Given the description of an element on the screen output the (x, y) to click on. 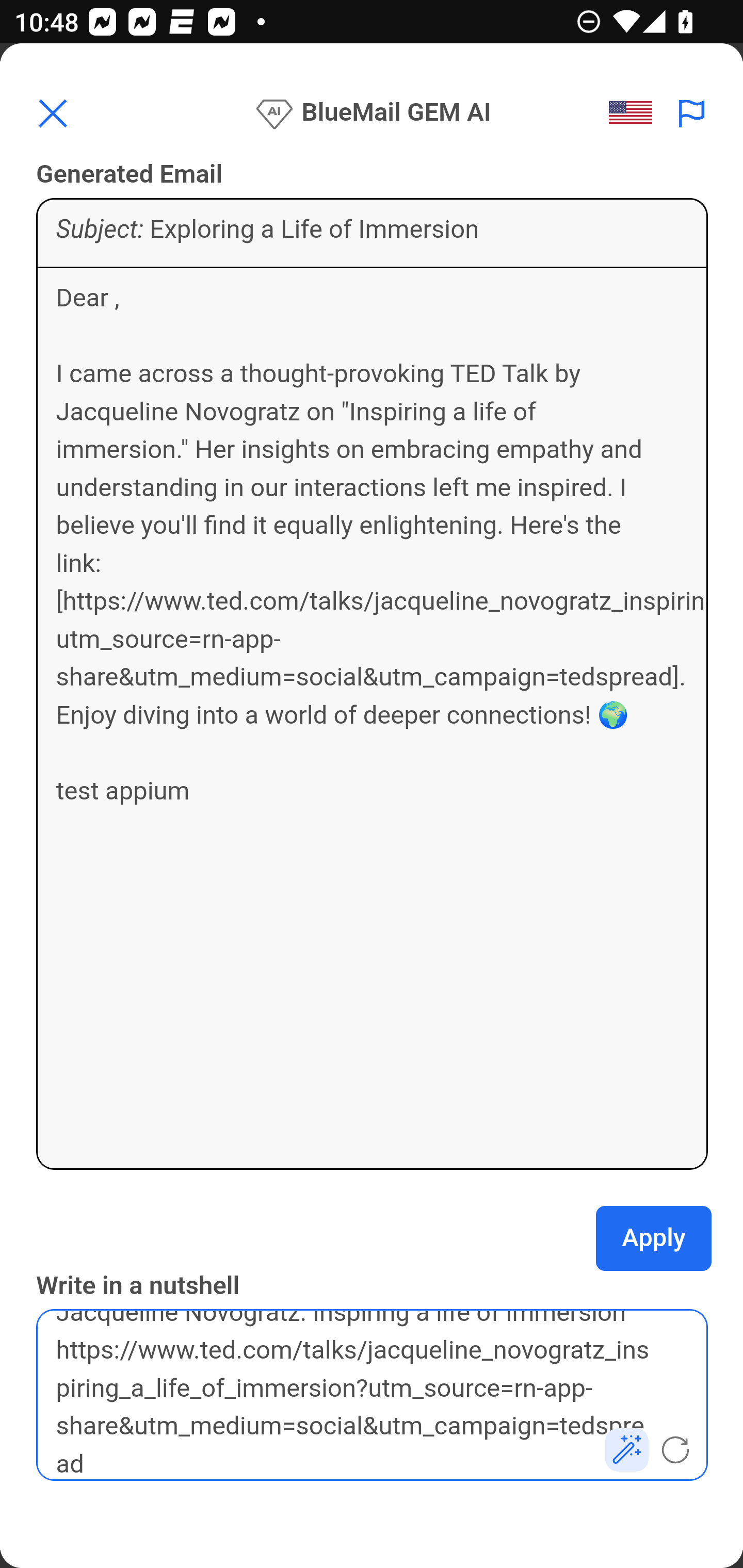
svg%3e (636, 113)
Report (692, 113)
Apply (654, 1237)
